Given the description of an element on the screen output the (x, y) to click on. 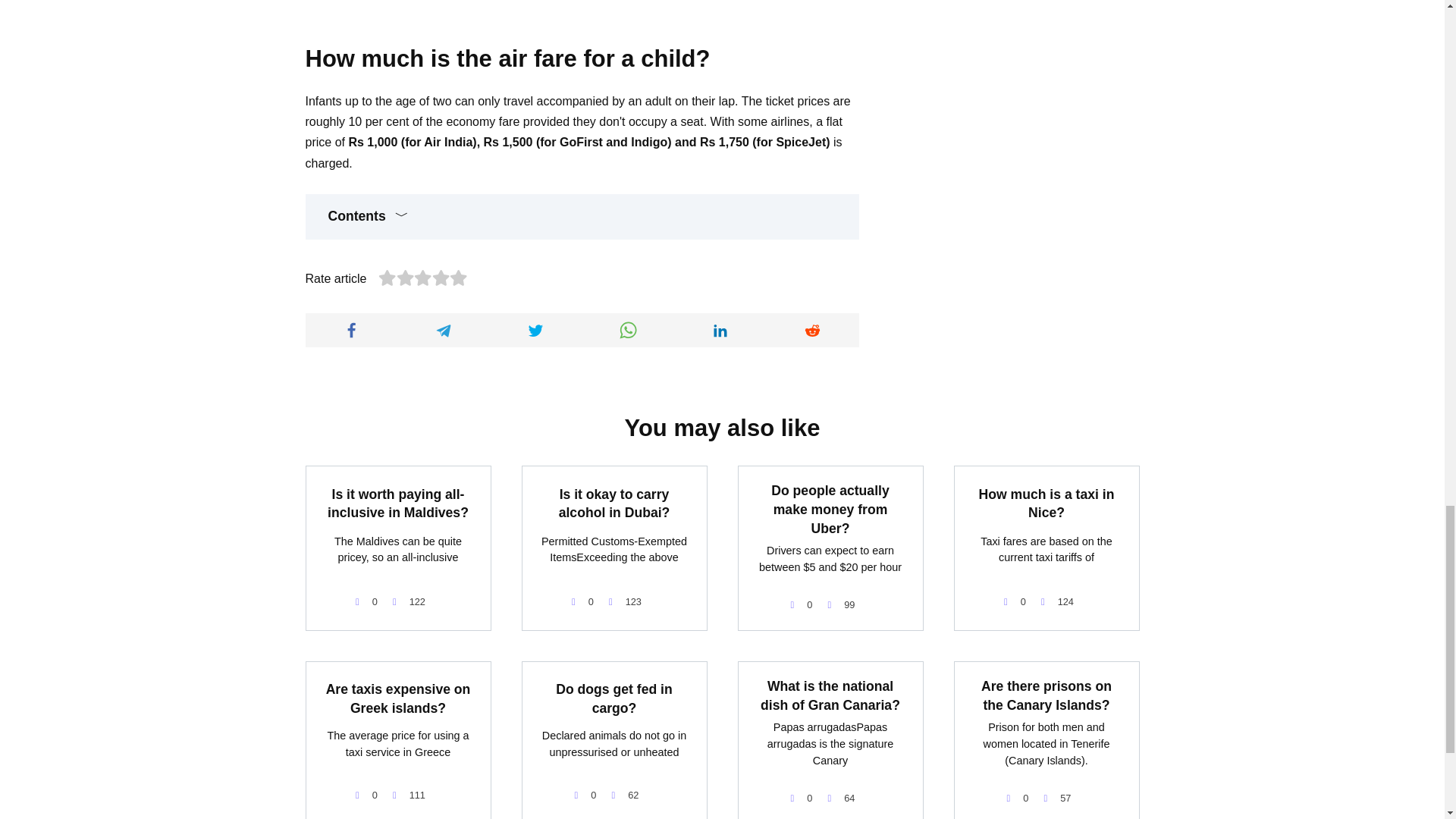
Are there prisons on the Canary Islands? (1046, 695)
What is the national dish of Gran Canaria? (829, 695)
Do dogs get fed in cargo? (613, 698)
Do people actually make money from Uber? (829, 509)
Are taxis expensive on Greek islands? (398, 698)
How much is a taxi in Nice? (1046, 503)
Is it okay to carry alcohol in Dubai? (614, 503)
Is it worth paying all-inclusive in Maldives? (397, 503)
